Given the description of an element on the screen output the (x, y) to click on. 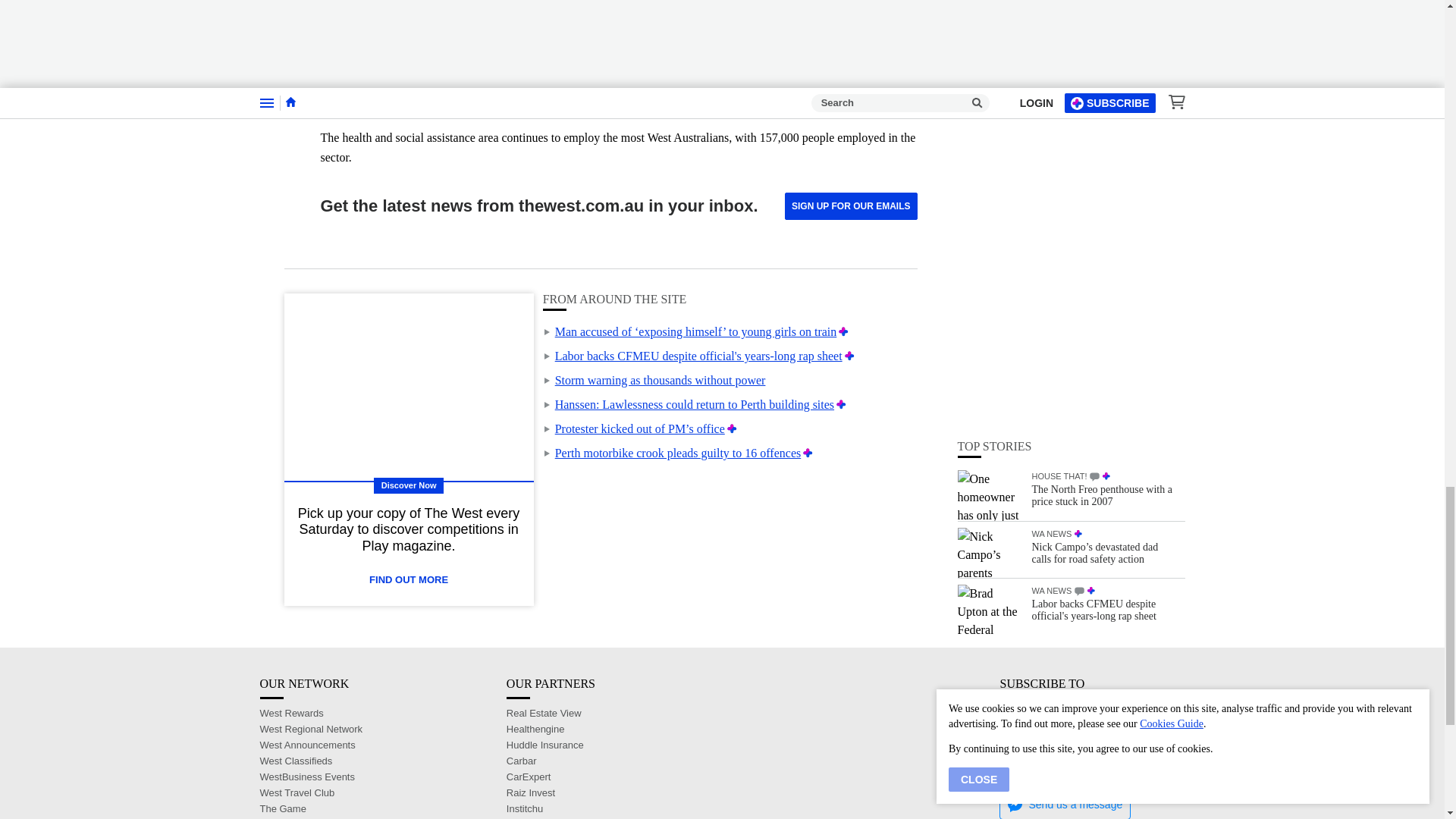
Premium (840, 404)
Premium (843, 331)
Premium (849, 355)
Premium (731, 428)
Premium (807, 452)
